Given the description of an element on the screen output the (x, y) to click on. 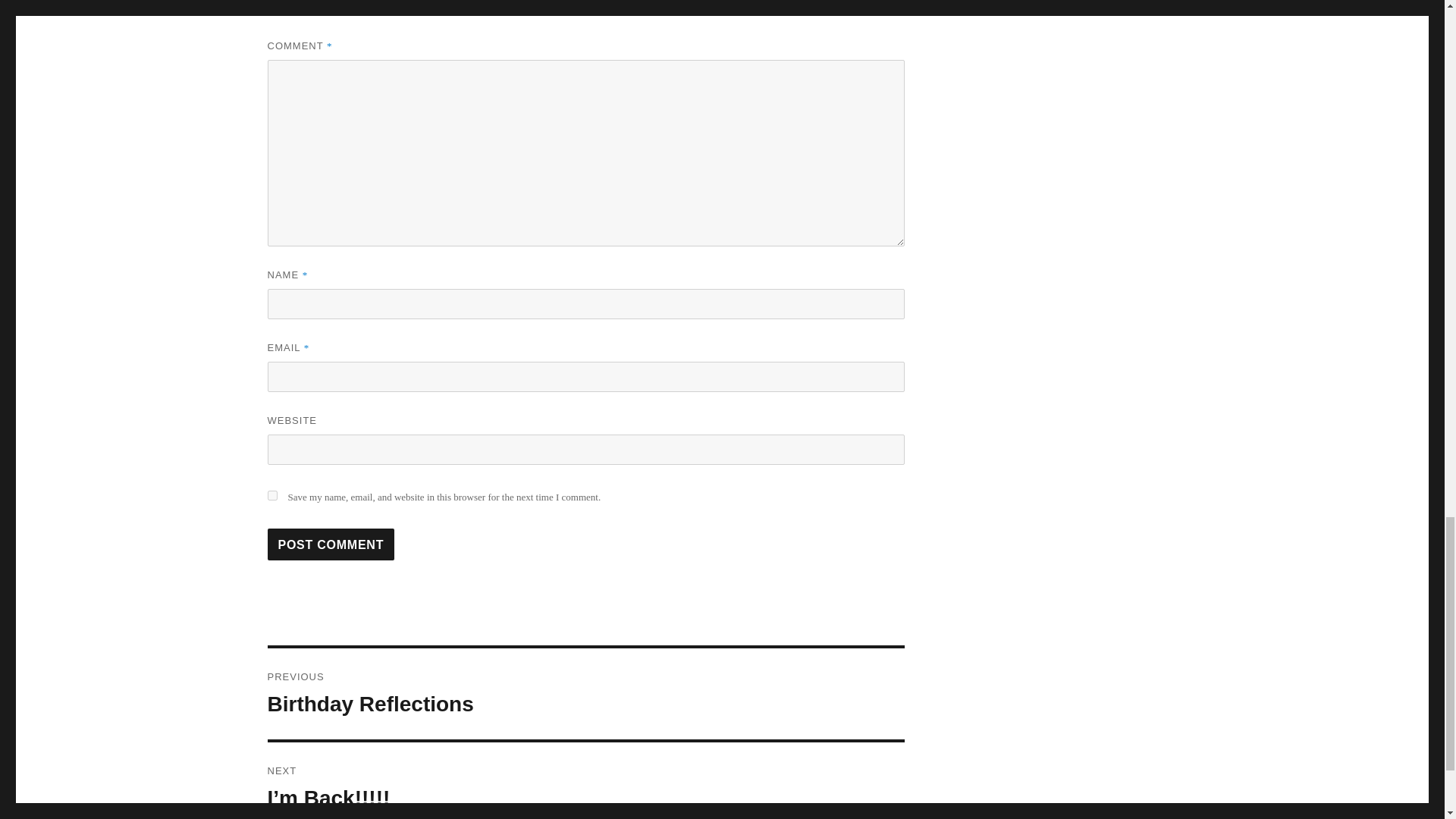
yes (271, 495)
Post Comment (585, 693)
Post Comment (330, 544)
